Given the description of an element on the screen output the (x, y) to click on. 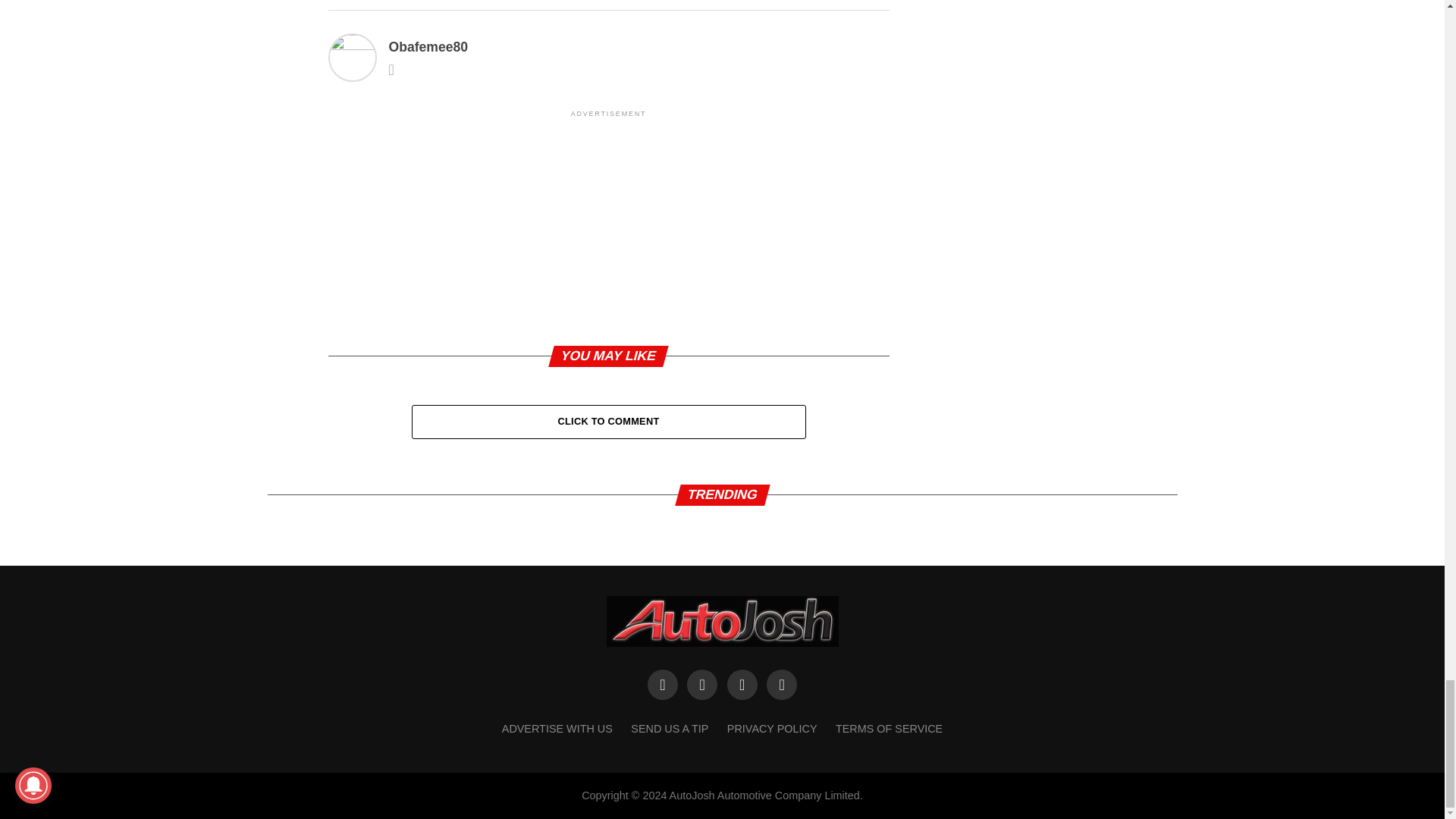
Posts by Obafemee80 (427, 46)
